Given the description of an element on the screen output the (x, y) to click on. 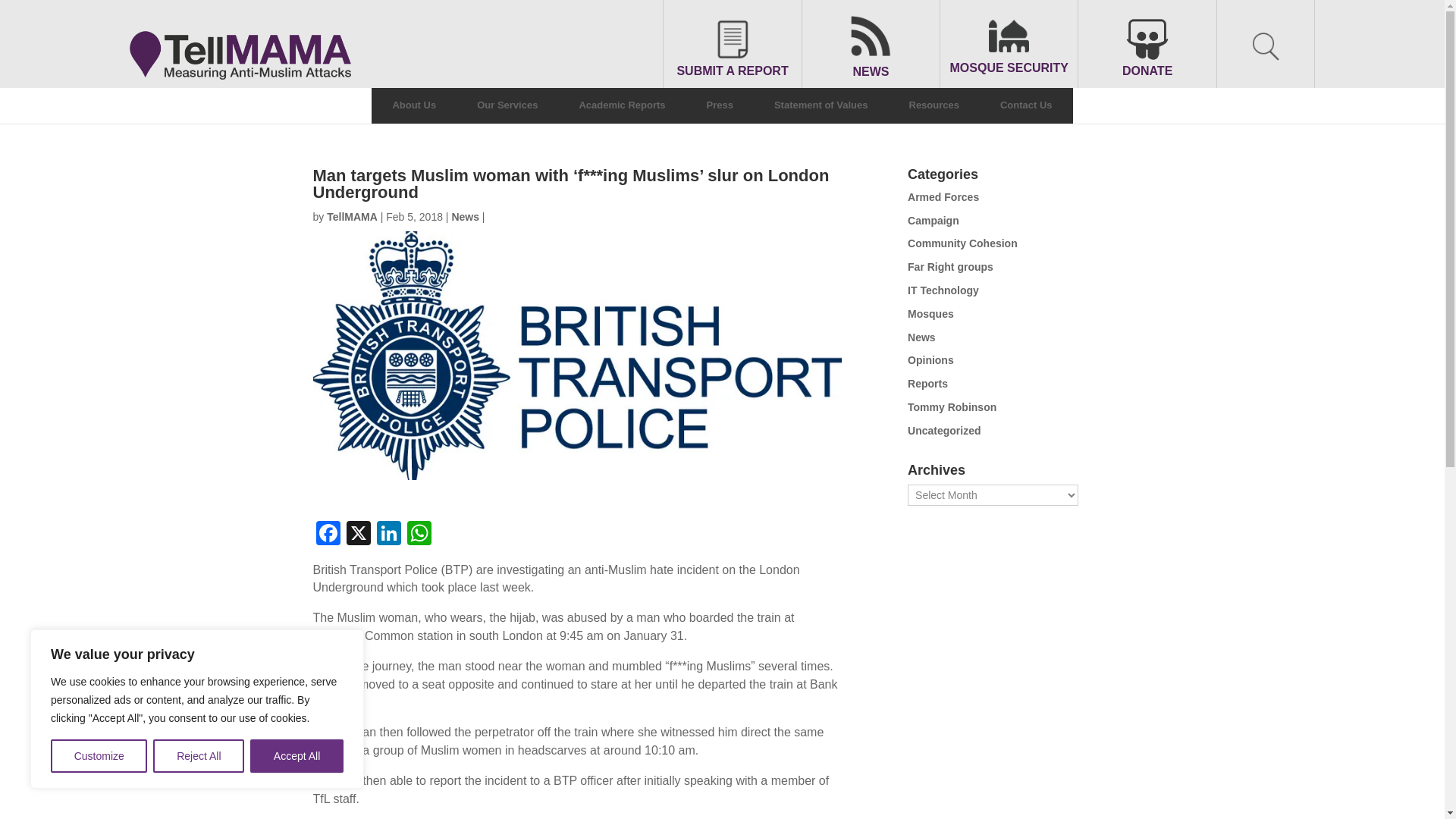
News (465, 216)
LinkedIn (387, 534)
Statement of Values (821, 105)
Accept All (296, 756)
Posts by TellMAMA (351, 216)
MOSQUE SECURITY (1008, 47)
About Us (414, 105)
Facebook (327, 534)
Press (719, 105)
Reject All (198, 756)
Resources (933, 105)
WhatsApp (418, 534)
SUBMIT A REPORT (731, 47)
X (357, 534)
DONATE (1146, 46)
